Given the description of an element on the screen output the (x, y) to click on. 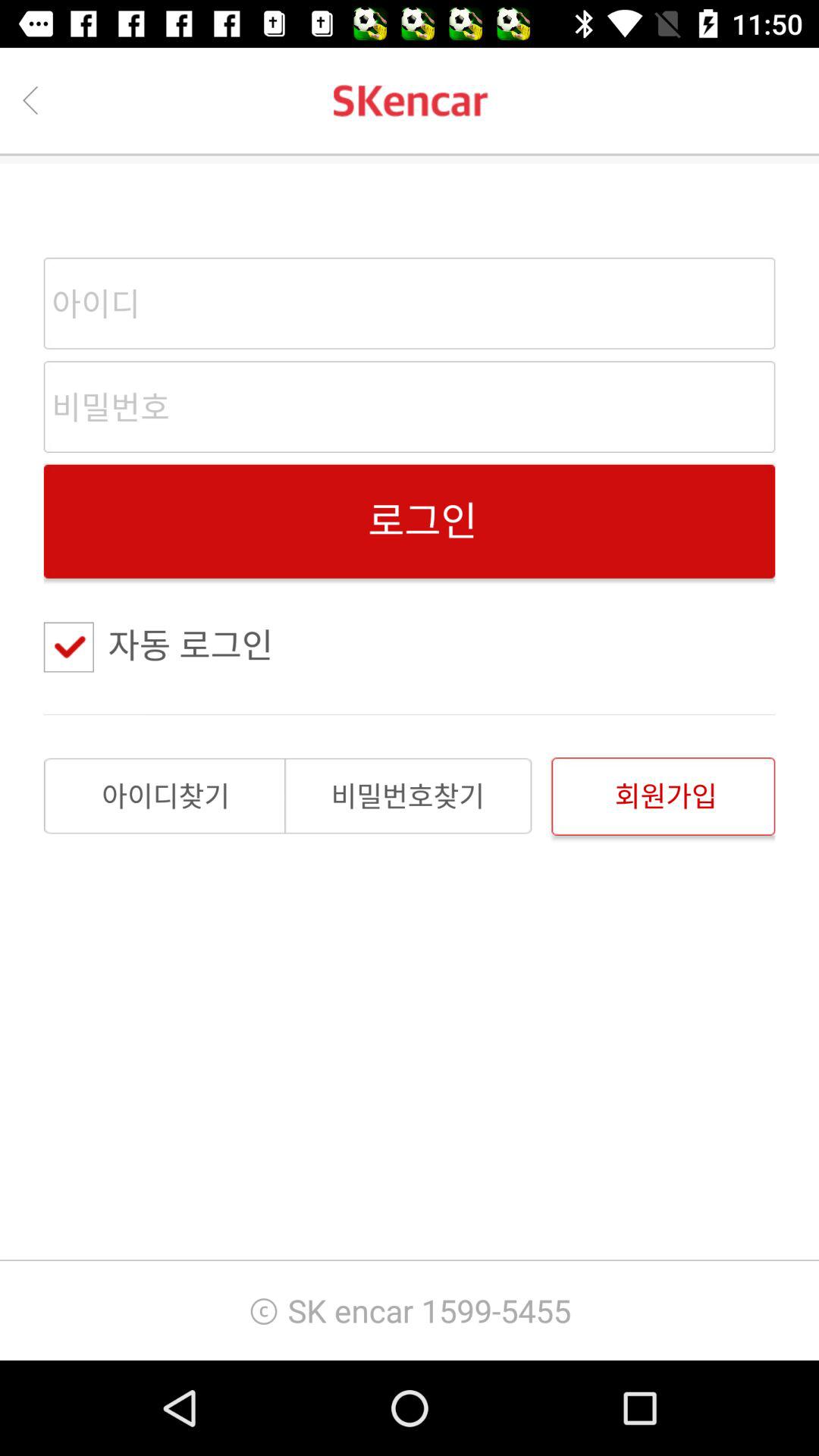
select the item above sk encar 1599 item (407, 795)
